Given the description of an element on the screen output the (x, y) to click on. 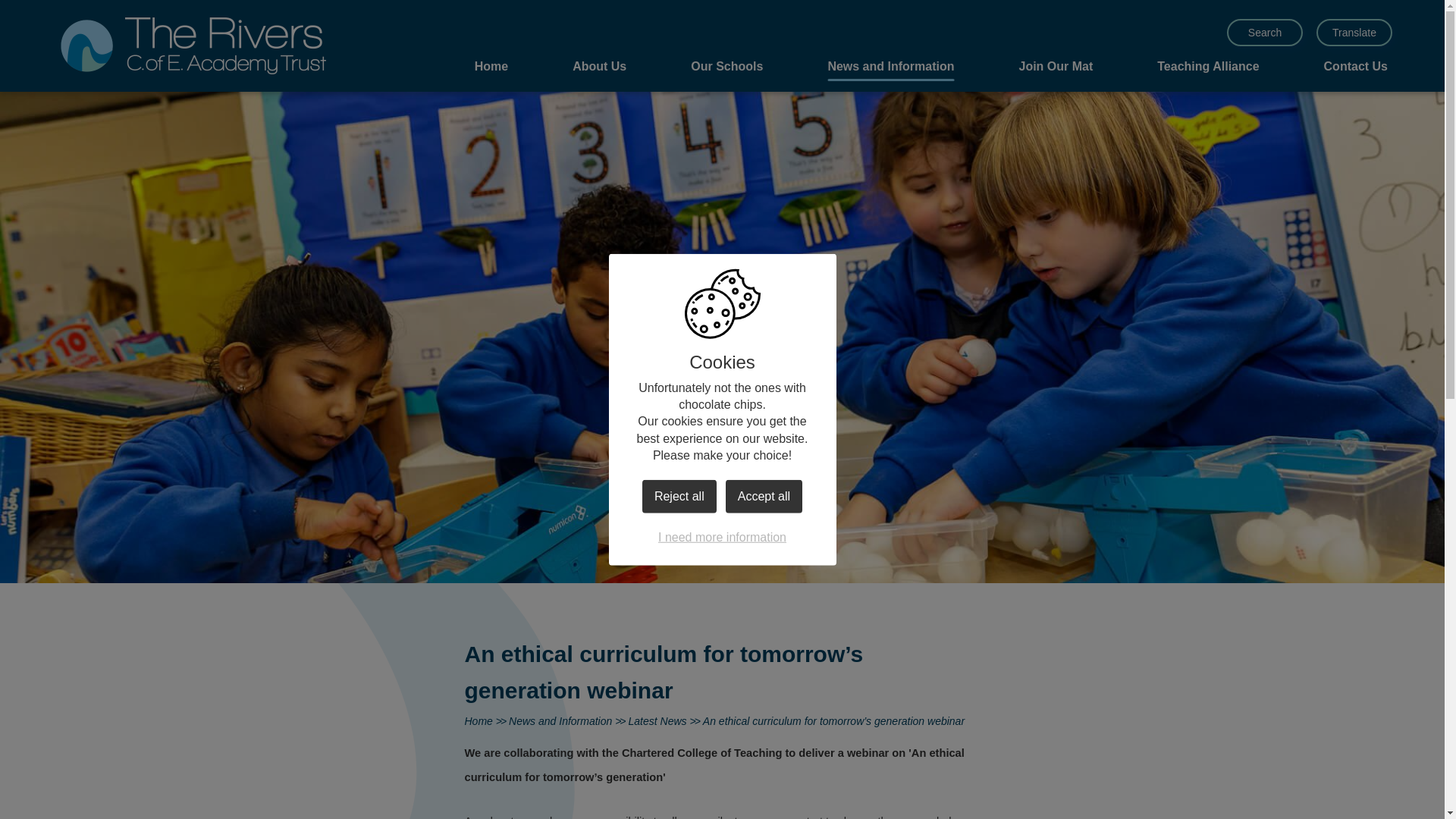
About Us (599, 68)
Home (491, 68)
Our Schools (726, 68)
News and Information (890, 68)
Home Page (193, 45)
